Given the description of an element on the screen output the (x, y) to click on. 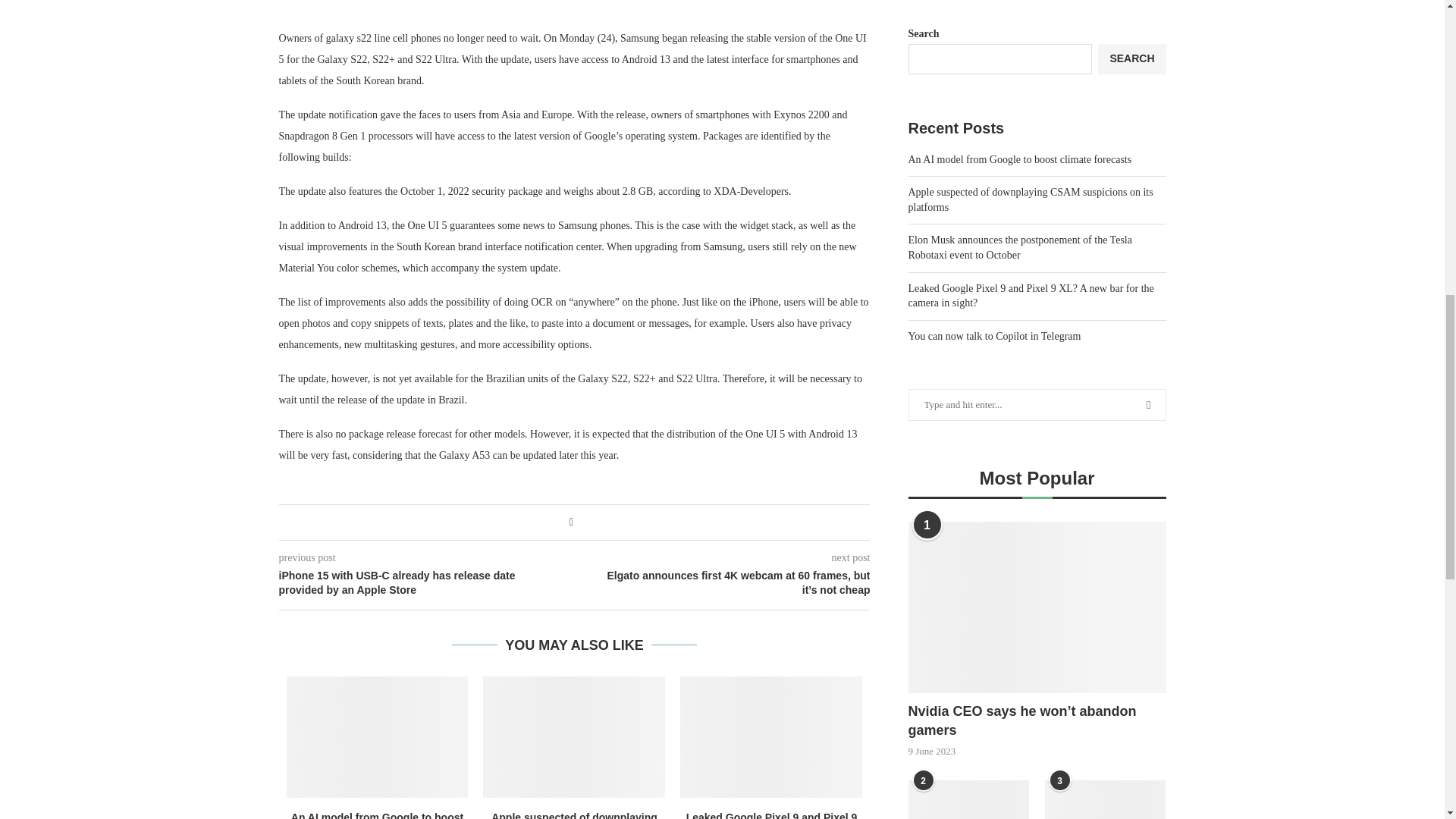
An AI model from Google to boost climate... (377, 815)
Apple suspected of downplaying CSAM suspicions on its... (575, 815)
Leaked Google Pixel 9 and Pixel 9 XL?... (771, 815)
An AI model from Google to boost climate forecasts (377, 736)
